Given the description of an element on the screen output the (x, y) to click on. 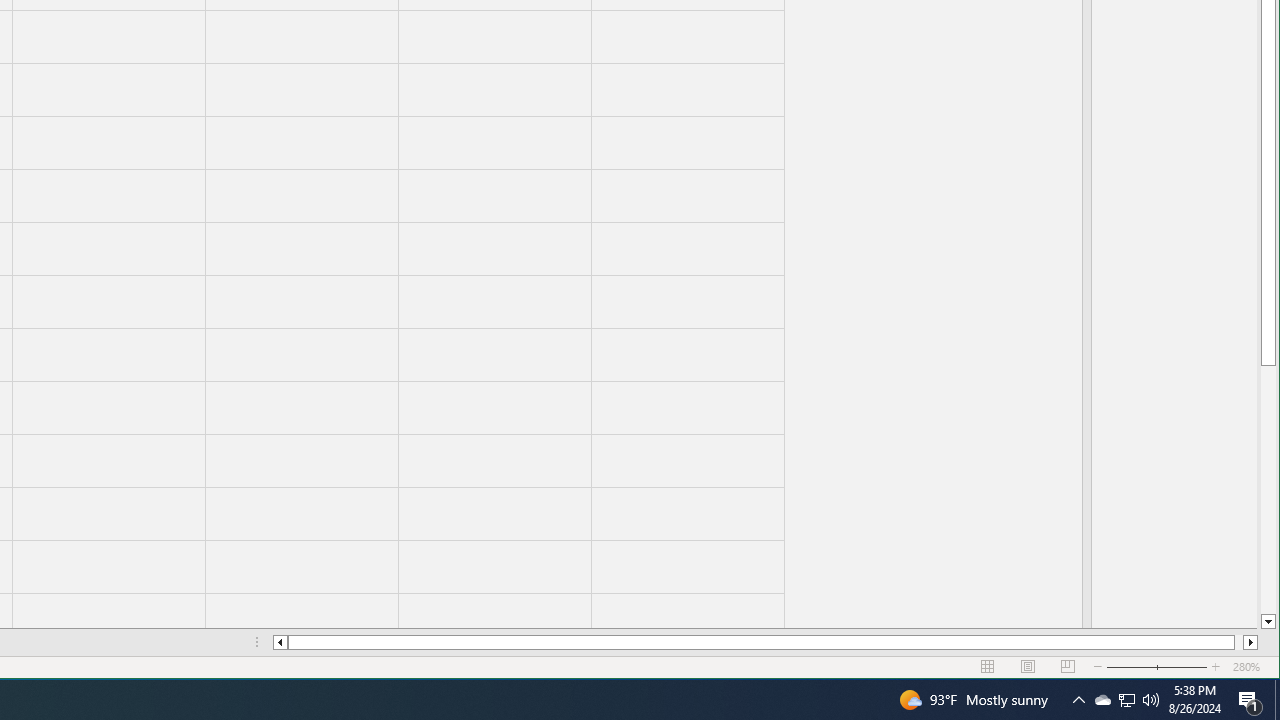
Notification Chevron (1078, 699)
Action Center, 1 new notification (1102, 699)
Q2790: 100% (1250, 699)
